Given the description of an element on the screen output the (x, y) to click on. 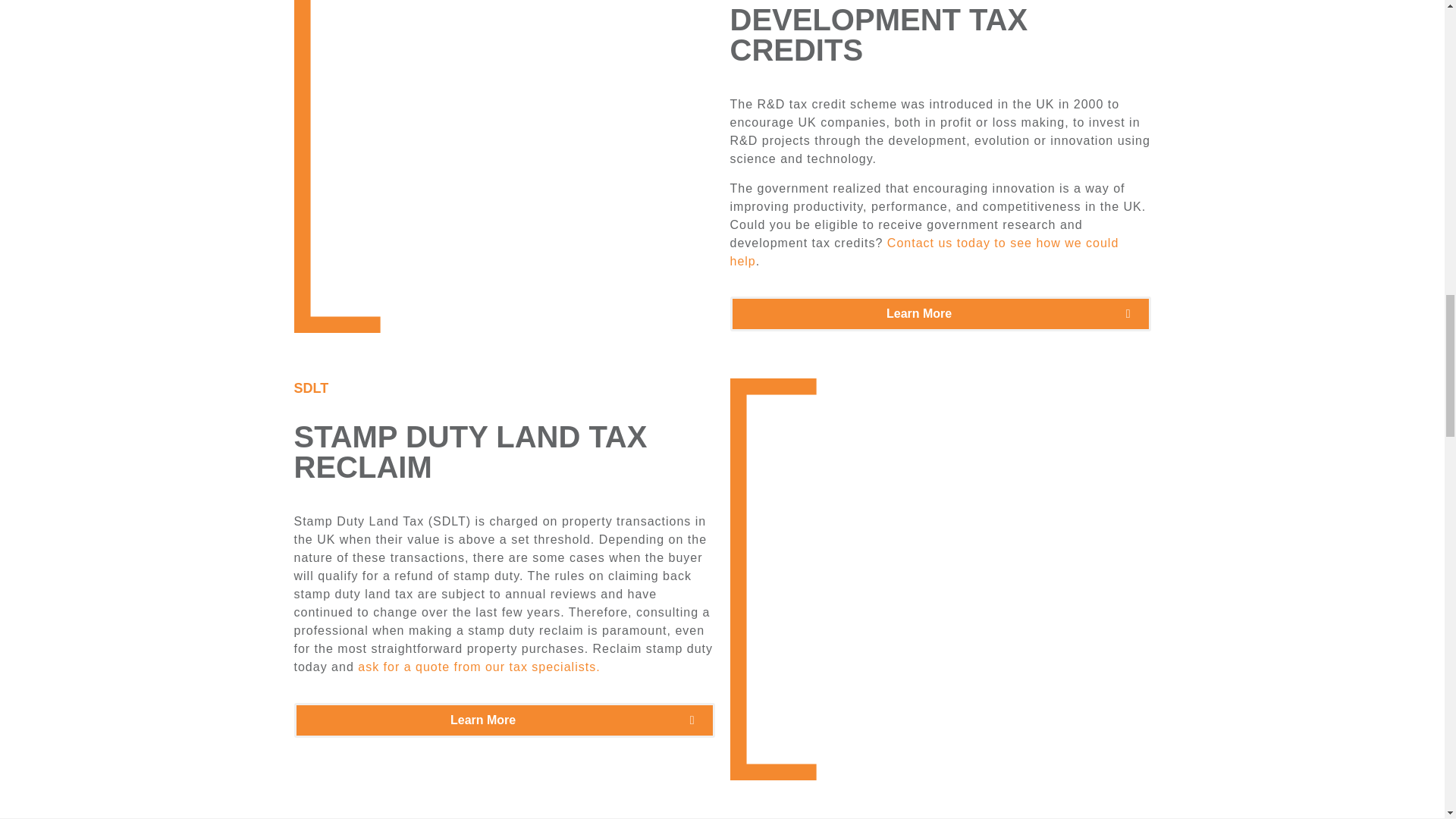
Contact us today to see how we could help (923, 251)
ask for a quote from our tax specialists. (476, 666)
Learn More (939, 313)
